Given the description of an element on the screen output the (x, y) to click on. 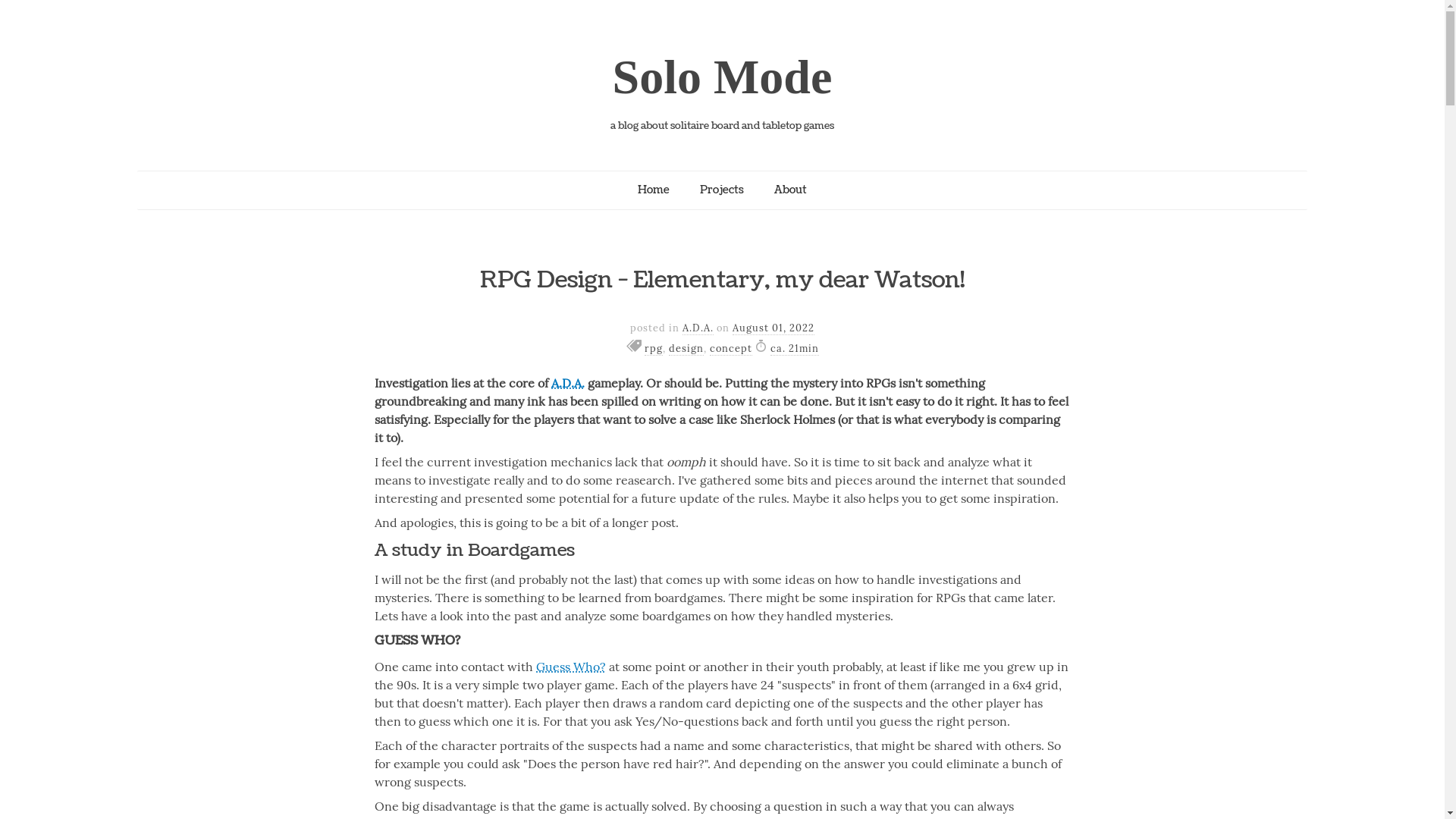
August 01, 2022 Element type: text (773, 328)
Projects Element type: text (721, 190)
A.D.A. Element type: text (697, 328)
RPG Design - Elementary, my dear Watson! Element type: text (722, 279)
Home Element type: text (653, 190)
A.D.A. Element type: text (567, 382)
About Element type: text (790, 190)
Guess Who? Element type: text (570, 666)
